Given the description of an element on the screen output the (x, y) to click on. 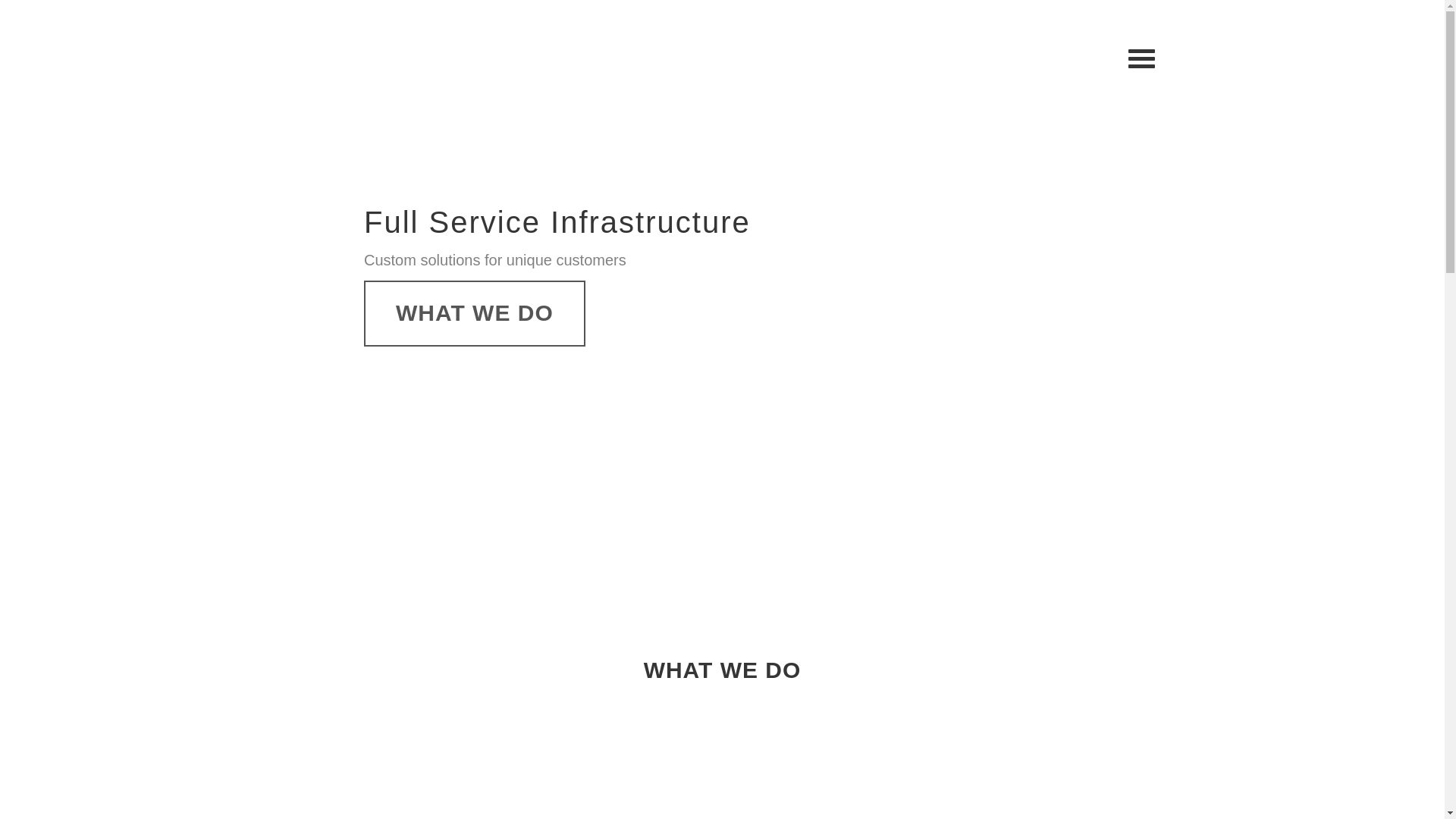
WHAT WE DO Element type: text (474, 313)
